Given the description of an element on the screen output the (x, y) to click on. 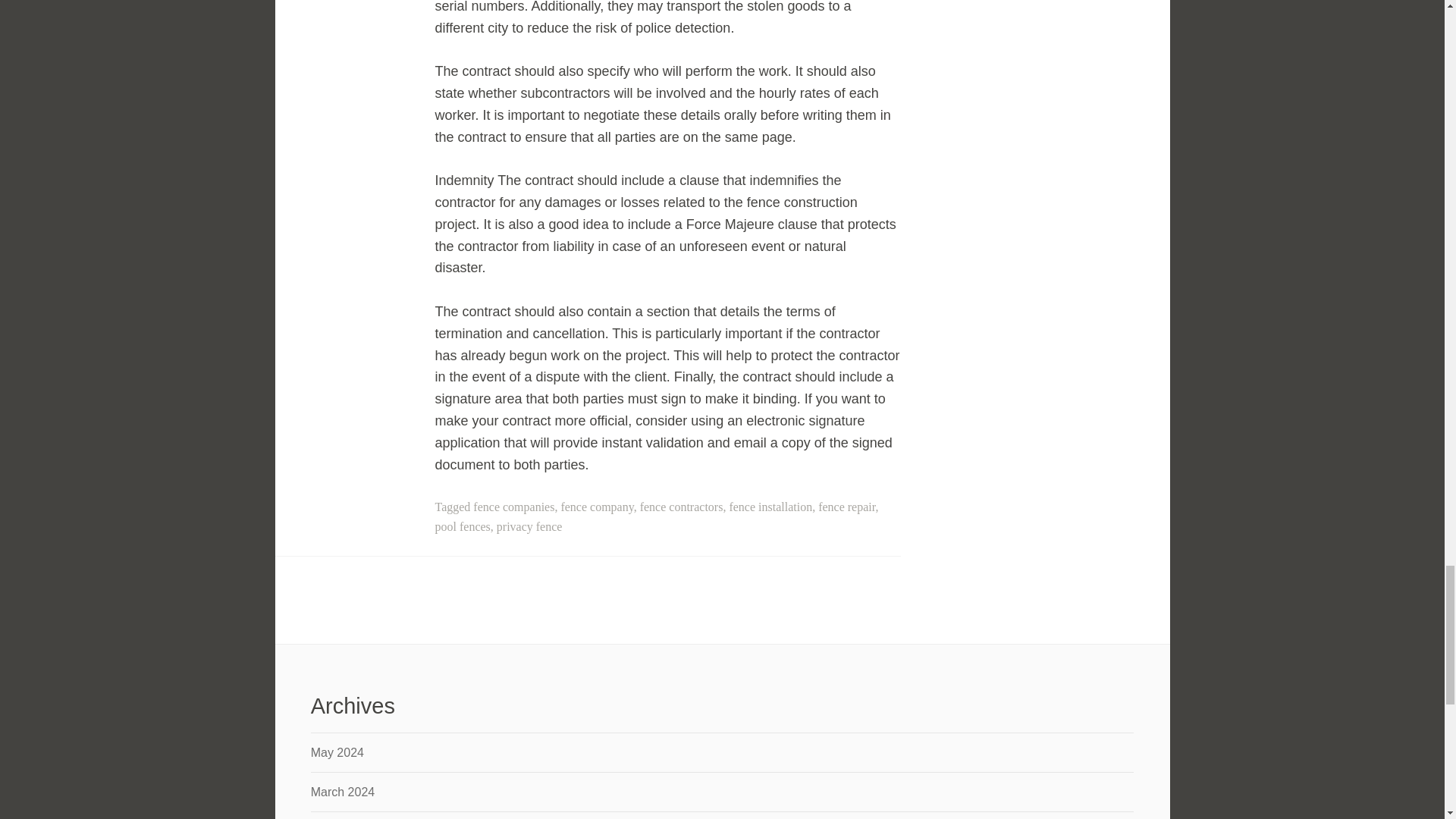
fence repair (846, 506)
fence installation (770, 506)
fence companies (513, 506)
fence company (596, 506)
privacy fence (529, 526)
pool fences (462, 526)
May 2024 (337, 752)
March 2024 (343, 791)
fence contractors (681, 506)
